Given the description of an element on the screen output the (x, y) to click on. 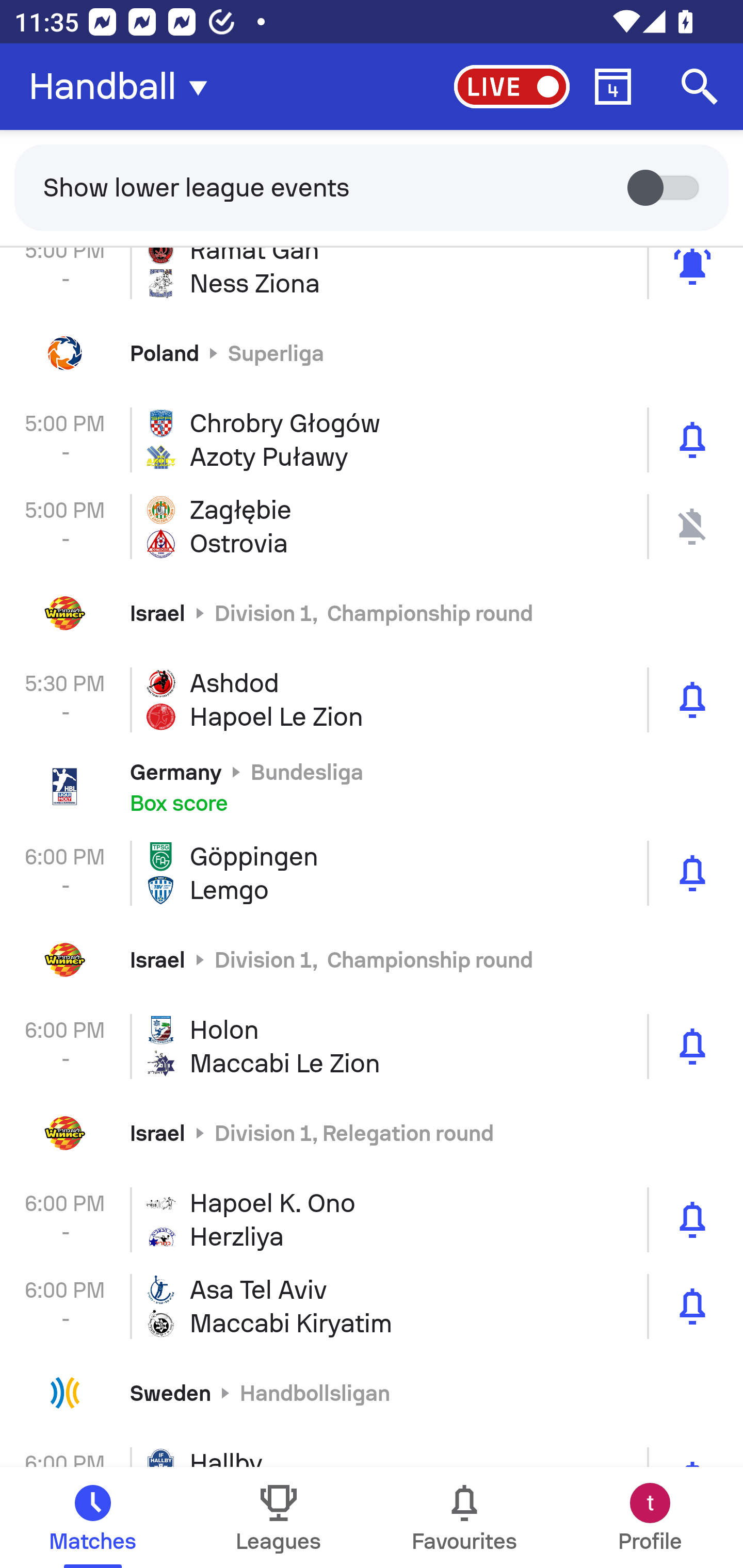
Handball (124, 86)
Calendar (612, 86)
Search (699, 86)
Show lower league events (371, 187)
Poland Superliga (371, 353)
5:00 PM - Chrobry Głogów Azoty Puławy (371, 439)
5:00 PM - Zagłębie Ostrovia (371, 525)
Israel Division 1,  Championship round (371, 612)
5:30 PM - Ashdod Hapoel Le Zion (371, 699)
Germany Bundesliga Box score (371, 786)
6:00 PM - Göppingen Lemgo (371, 873)
Israel Division 1,  Championship round (371, 960)
6:00 PM - Holon Maccabi Le Zion (371, 1046)
Israel Division 1, Relegation round (371, 1132)
6:00 PM - Hapoel K. Ono Herzliya (371, 1219)
6:00 PM - Asa Tel Aviv Maccabi Kiryatim (371, 1306)
Sweden Handbollsligan (371, 1393)
Leagues (278, 1517)
Favourites (464, 1517)
Profile (650, 1517)
